Given the description of an element on the screen output the (x, y) to click on. 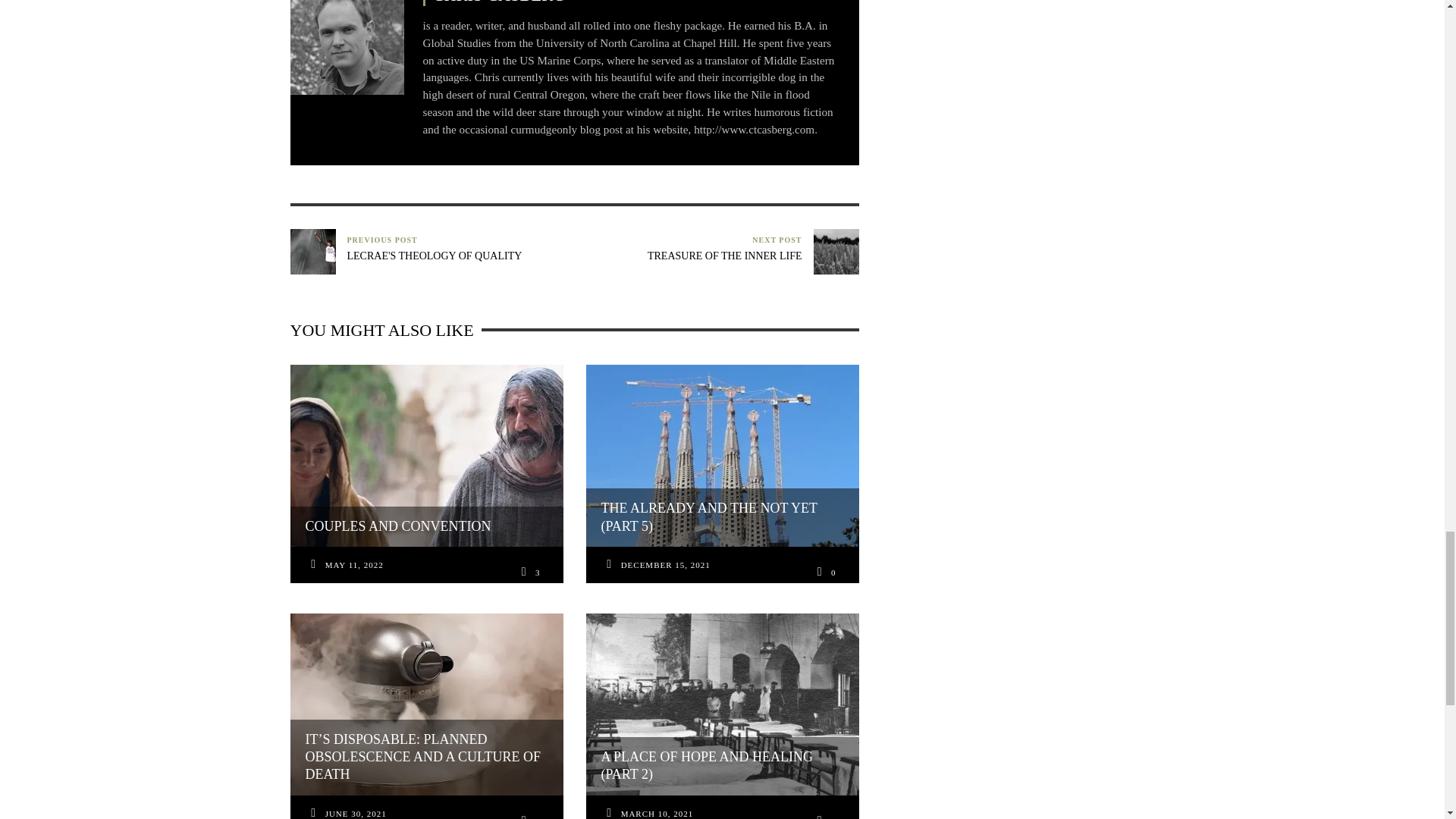
View all posts by Chris Casberg (346, 51)
Permalink to Couples and Convention (354, 565)
